Given the description of an element on the screen output the (x, y) to click on. 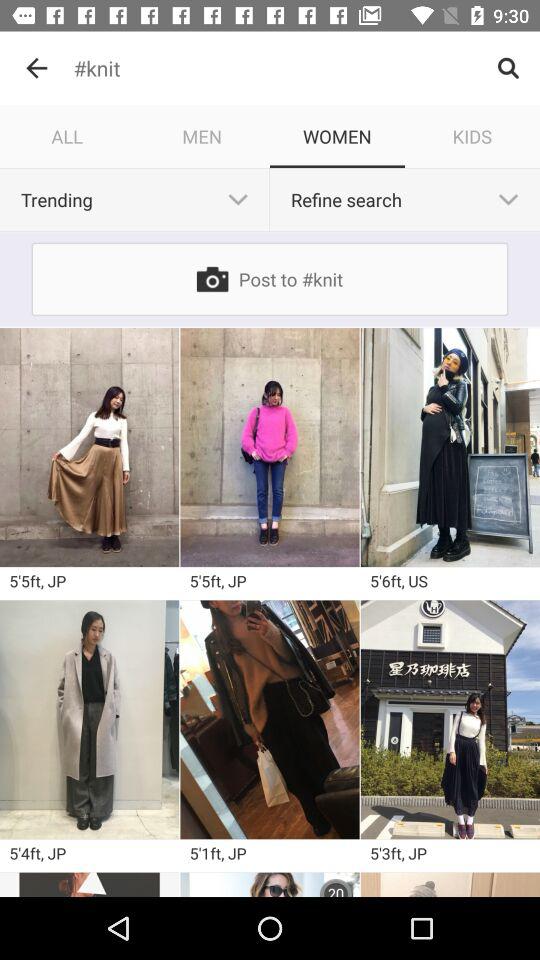
choose the item to the left of women item (202, 136)
